Given the description of an element on the screen output the (x, y) to click on. 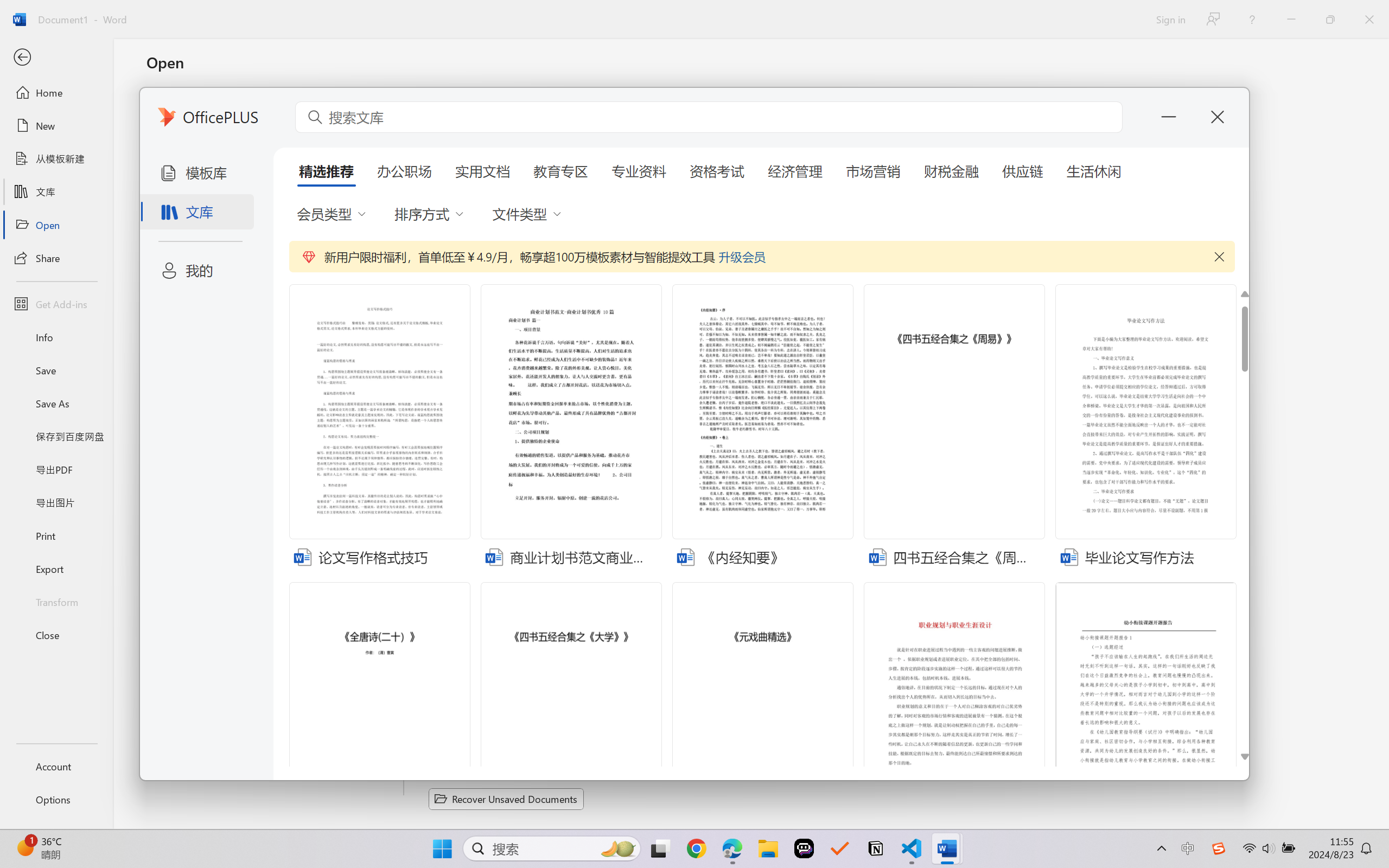
Options (56, 798)
Back (56, 57)
